Given the description of an element on the screen output the (x, y) to click on. 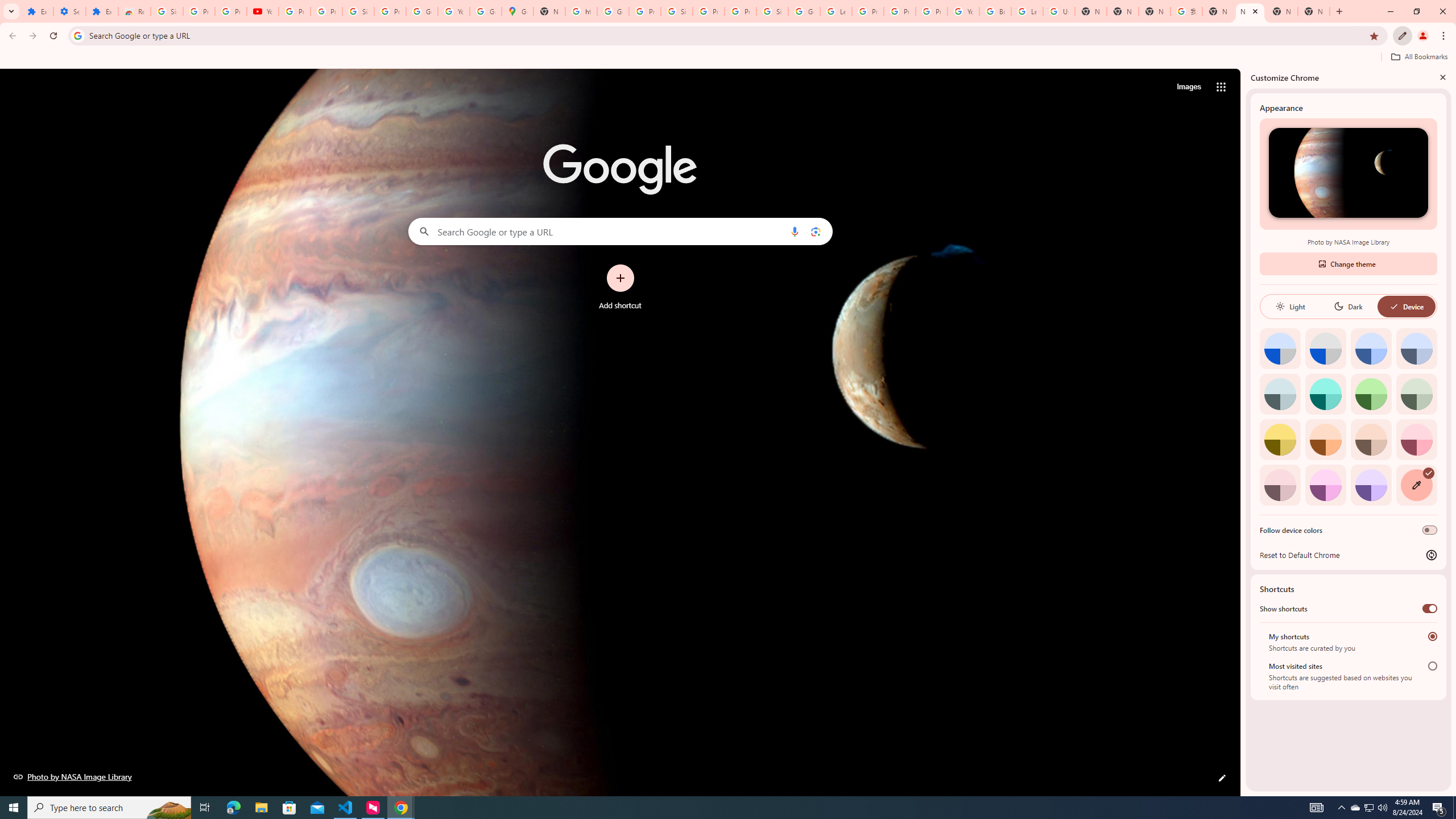
Aqua (1325, 393)
Search by image (816, 230)
Change theme (1348, 263)
Device (1406, 305)
Citron (1279, 439)
YouTube (963, 11)
Cool grey (1416, 348)
YouTube (453, 11)
Apricot (1371, 439)
Google Account (421, 11)
Reviews: Helix Fruit Jump Arcade Game (134, 11)
